Given the description of an element on the screen output the (x, y) to click on. 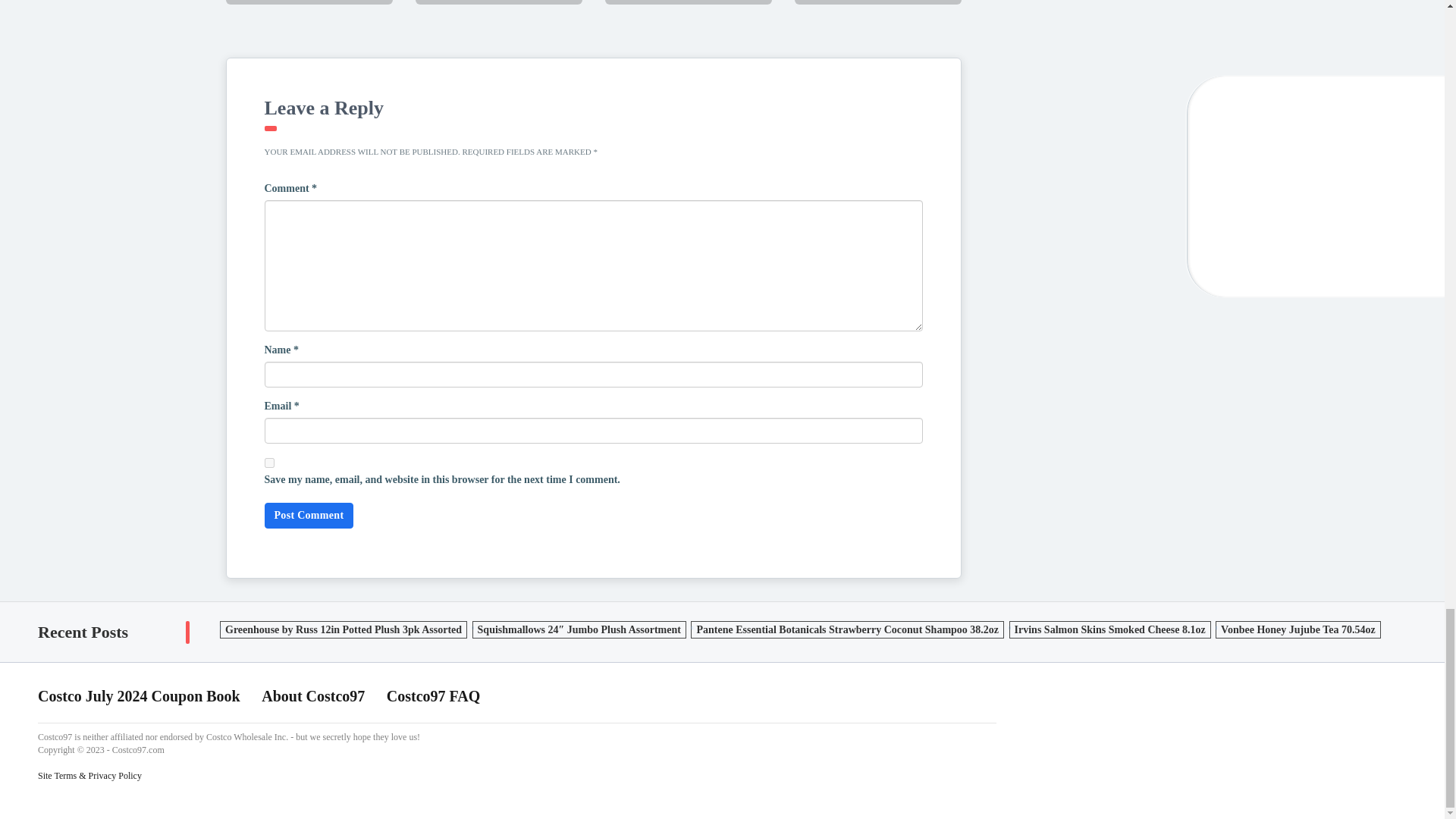
Post Comment (308, 515)
yes (268, 462)
